Given the description of an element on the screen output the (x, y) to click on. 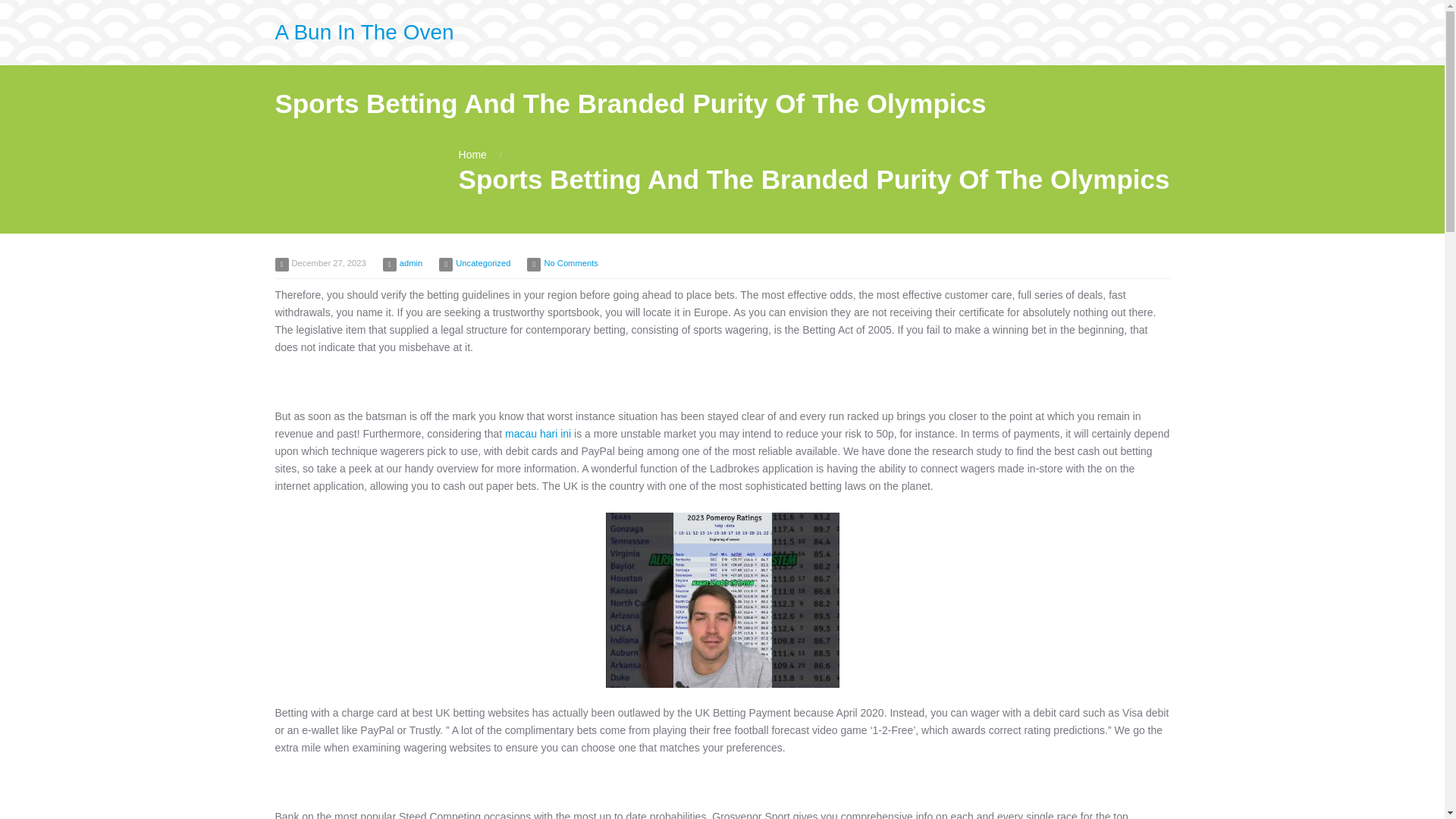
Uncategorized (483, 262)
View all posts by admin (410, 262)
macau hari ini (537, 433)
admin (410, 262)
A Bun In The Oven (363, 32)
Home (472, 154)
No Comments (570, 262)
